Given the description of an element on the screen output the (x, y) to click on. 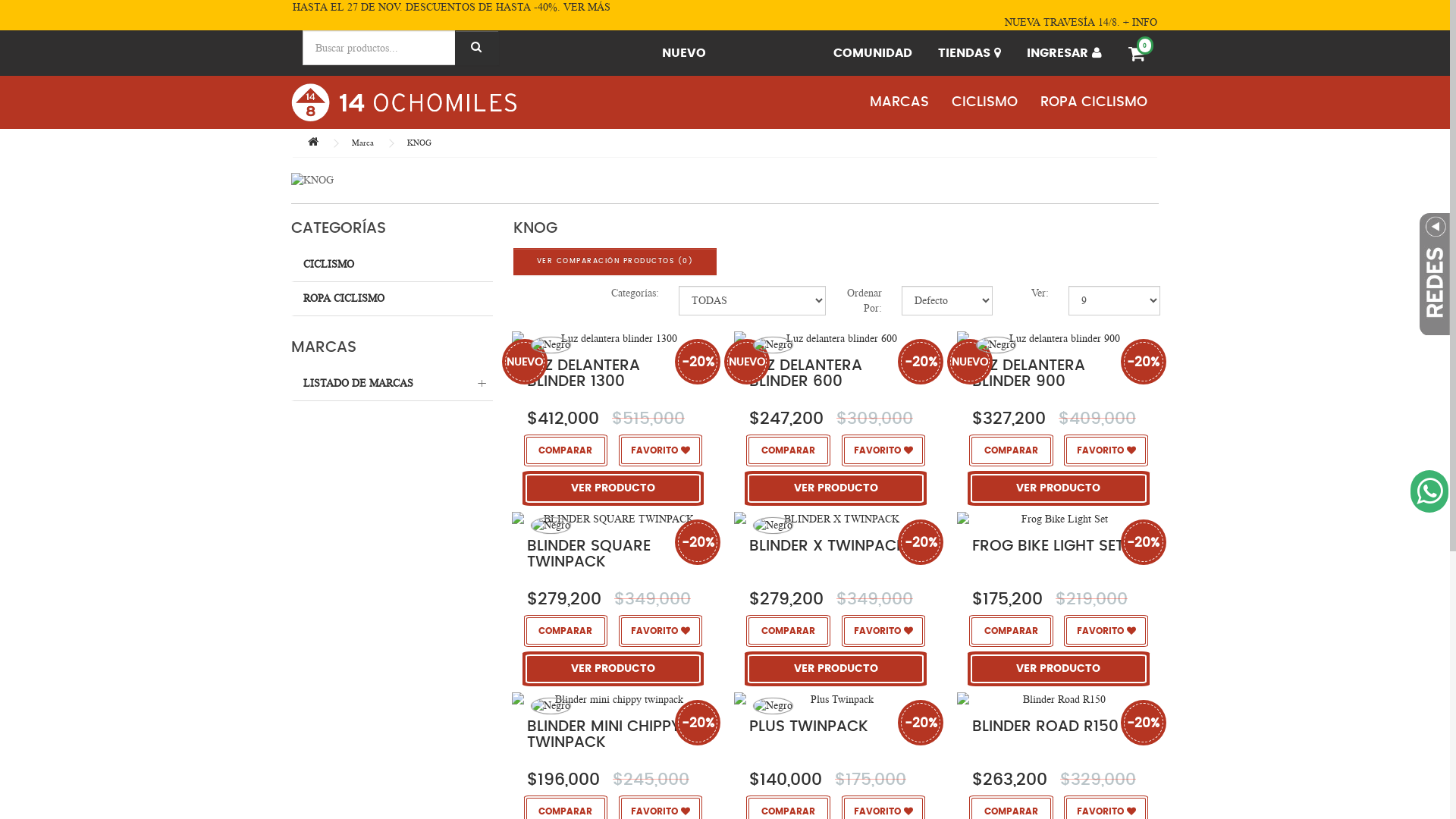
FAVORITO Element type: text (883, 630)
MARCAS Element type: text (899, 101)
VER PRODUCTO Element type: text (613, 487)
FAVORITO Element type: text (1105, 449)
COMPARAR Element type: text (787, 449)
Negro Element type: hover (550, 704)
LUZ DELANTERA BLINDER 900 Element type: text (1028, 373)
(RE)BAJAS Element type: hover (769, 52)
FAVORITO Element type: text (883, 449)
Luz delantera blinder 900 Element type: hover (1058, 337)
FAVORITO Element type: text (1105, 630)
BLINDER X TWINPACK Element type: hover (835, 518)
Negro Element type: hover (550, 344)
LUZ DELANTERA BLINDER 1300 Element type: text (583, 373)
LUZ DELANTERA BLINDER 600 Element type: text (805, 373)
COMPARAR Element type: text (787, 630)
Negro Element type: hover (773, 705)
VER PRODUCTO Element type: text (1058, 487)
Frog Bike Light Set Element type: hover (1058, 518)
KNOG Element type: hover (724, 180)
CICLISMO Element type: text (984, 101)
Negro Element type: hover (773, 344)
Negro Element type: hover (550, 343)
NUEVO Element type: text (683, 52)
ROPA CICLISMO Element type: text (391, 299)
Negro Element type: hover (995, 343)
VER PRODUCTO Element type: text (1058, 667)
Negro Element type: hover (550, 705)
BLINDER ROAD R150 Element type: text (1045, 726)
COMUNIDAD Element type: text (872, 52)
FAVORITO Element type: text (660, 449)
Plus Twinpack Element type: hover (835, 698)
FAVORITO Element type: text (660, 630)
Blinder Road R150 Element type: hover (1058, 698)
COMPARAR Element type: text (565, 449)
VER PRODUCTO Element type: text (613, 667)
Blinder mini chippy twinpack Element type: hover (612, 698)
Negro Element type: hover (772, 524)
Marca Element type: text (362, 142)
Negro Element type: hover (995, 344)
CICLISMO Element type: text (391, 264)
LISTADO DE MARCAS Element type: text (391, 384)
BLINDER MINI CHIPPY TWINPACK Element type: text (603, 733)
COMPARAR Element type: text (1010, 449)
Luz delantera blinder 600 Element type: hover (835, 337)
Negro Element type: hover (772, 704)
Negro Element type: hover (550, 525)
VER PRODUCTO Element type: text (835, 487)
BLINDER SQUARE TWINPACK Element type: hover (612, 518)
Negro Element type: hover (772, 343)
BLINDER SQUARE TWINPACK Element type: text (588, 553)
14 OCHOMILES Element type: hover (403, 102)
VER PRODUCTO Element type: text (835, 667)
ROPA CICLISMO Element type: text (1093, 101)
TIENDAS Element type: text (969, 52)
Negro Element type: hover (550, 524)
COMPARAR Element type: text (1010, 630)
Luz delantera blinder 1300 Element type: hover (612, 337)
Negro Element type: hover (773, 525)
PLUS TWINPACK Element type: text (808, 726)
INGRESAR Element type: text (1064, 52)
COMPARAR Element type: text (565, 630)
KNOG Element type: text (419, 142)
FROG BIKE LIGHT SET Element type: text (1047, 545)
BLINDER X TWINPACK Element type: text (827, 545)
